Given the description of an element on the screen output the (x, y) to click on. 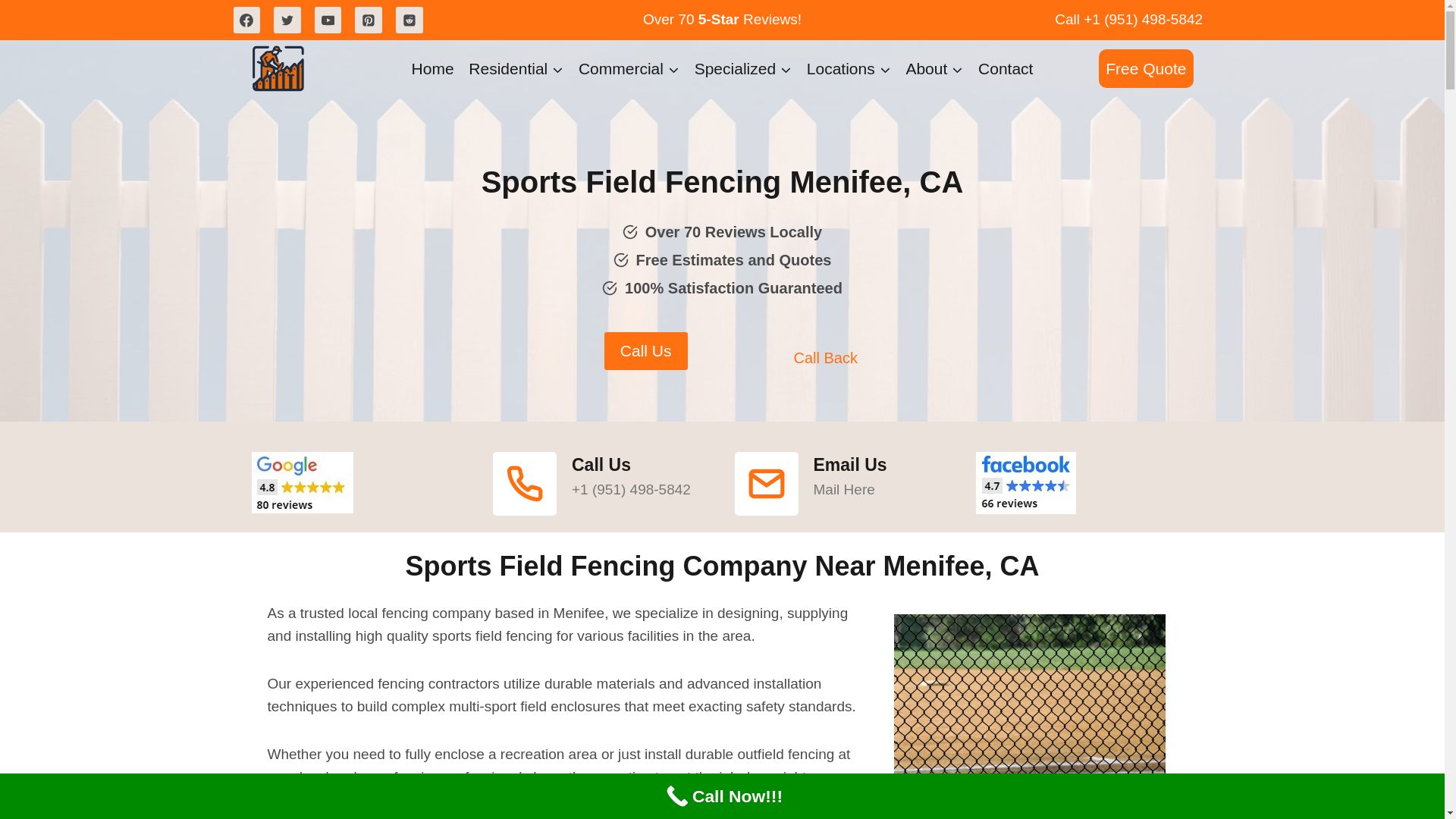
Residential (515, 67)
Home (432, 67)
Commercial (628, 67)
